Given the description of an element on the screen output the (x, y) to click on. 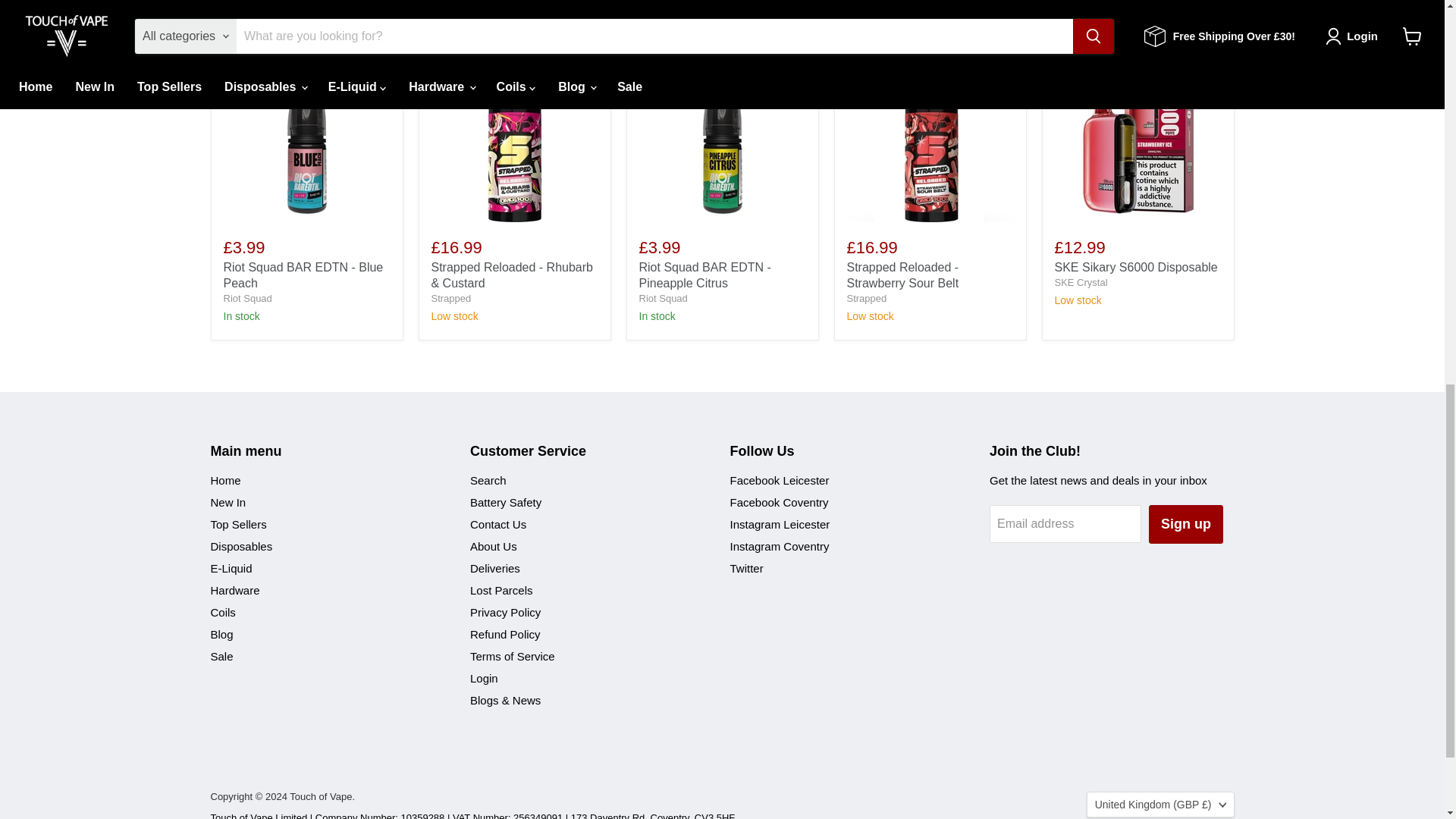
SKE Crystal (1080, 282)
Strapped (865, 297)
Riot Squad (663, 297)
Strapped (450, 297)
Riot Squad (246, 297)
